Given the description of an element on the screen output the (x, y) to click on. 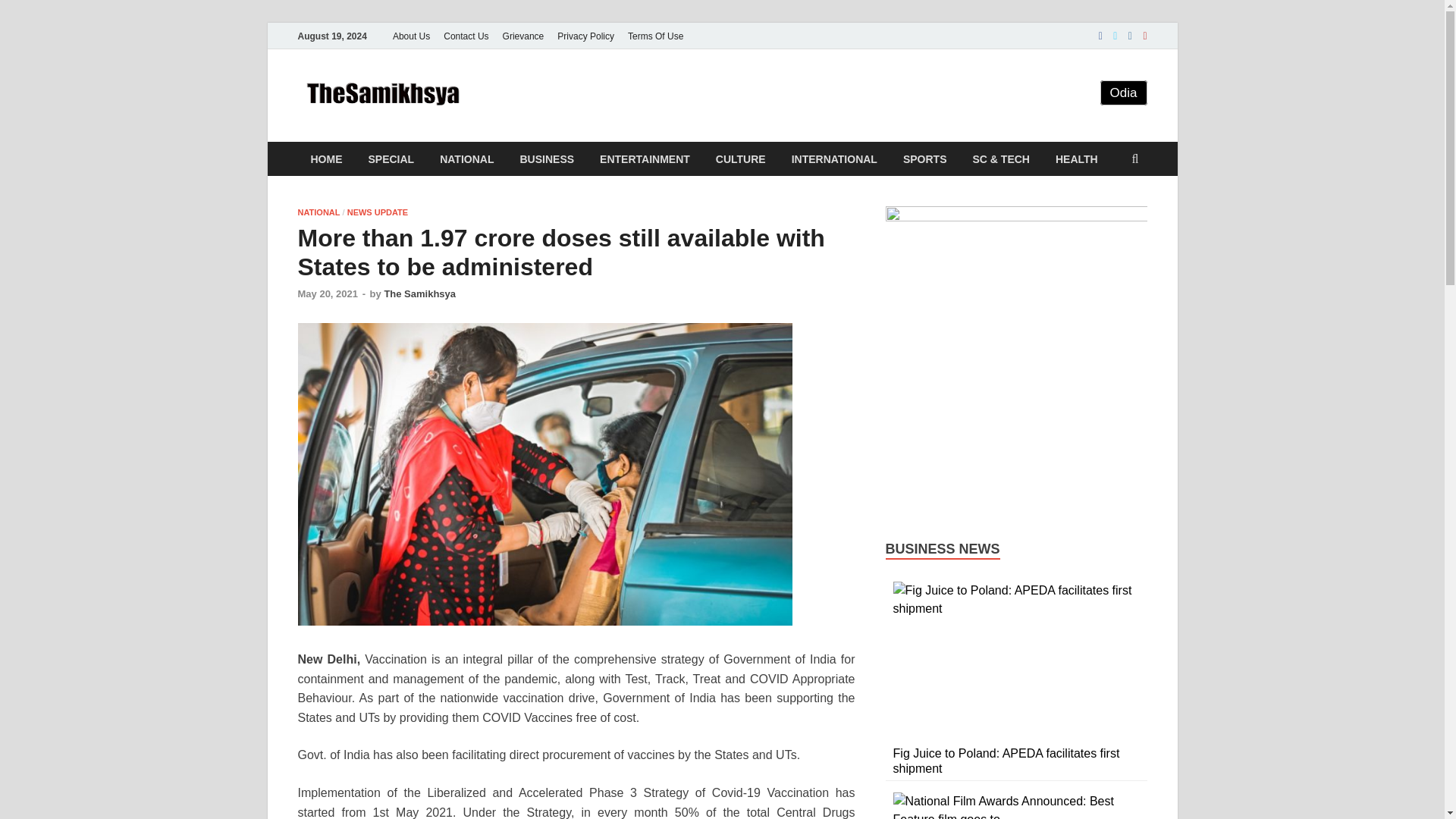
HOME (326, 158)
Privacy Policy (585, 35)
SPECIAL (390, 158)
INTERNATIONAL (833, 158)
Terms Of Use (655, 35)
CULTURE (740, 158)
ENTERTAINMENT (644, 158)
Grievance (523, 35)
Odia (1123, 92)
The Samikhsya (419, 293)
